Given the description of an element on the screen output the (x, y) to click on. 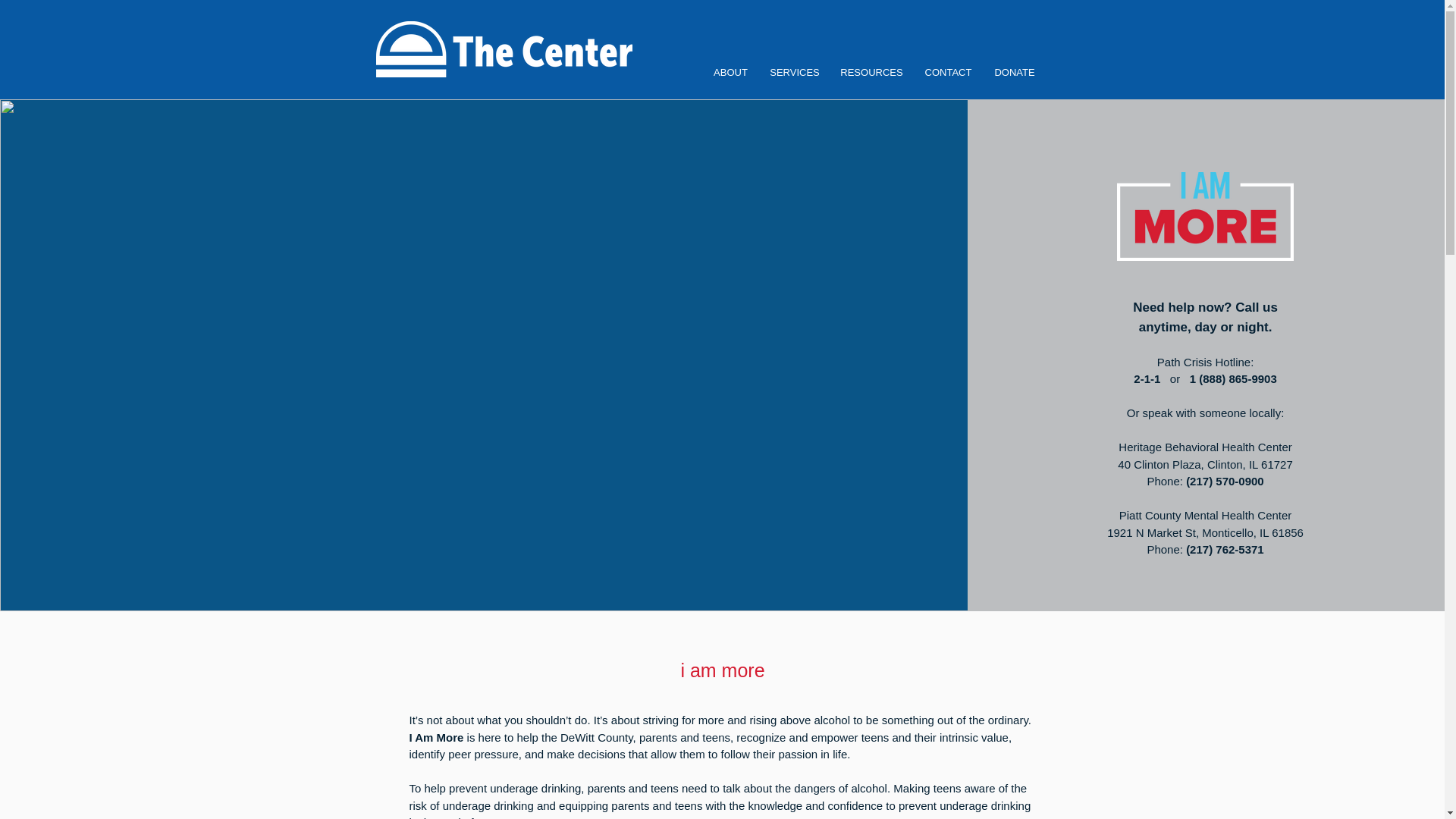
1921 N Market St, Monticello, IL 61856 (1204, 532)
40 Clinton Plaza, Clinton (1179, 463)
RESOURCES (870, 72)
CONTACT (947, 72)
2-1-1 (1147, 378)
DONATE (1013, 72)
